Given the description of an element on the screen output the (x, y) to click on. 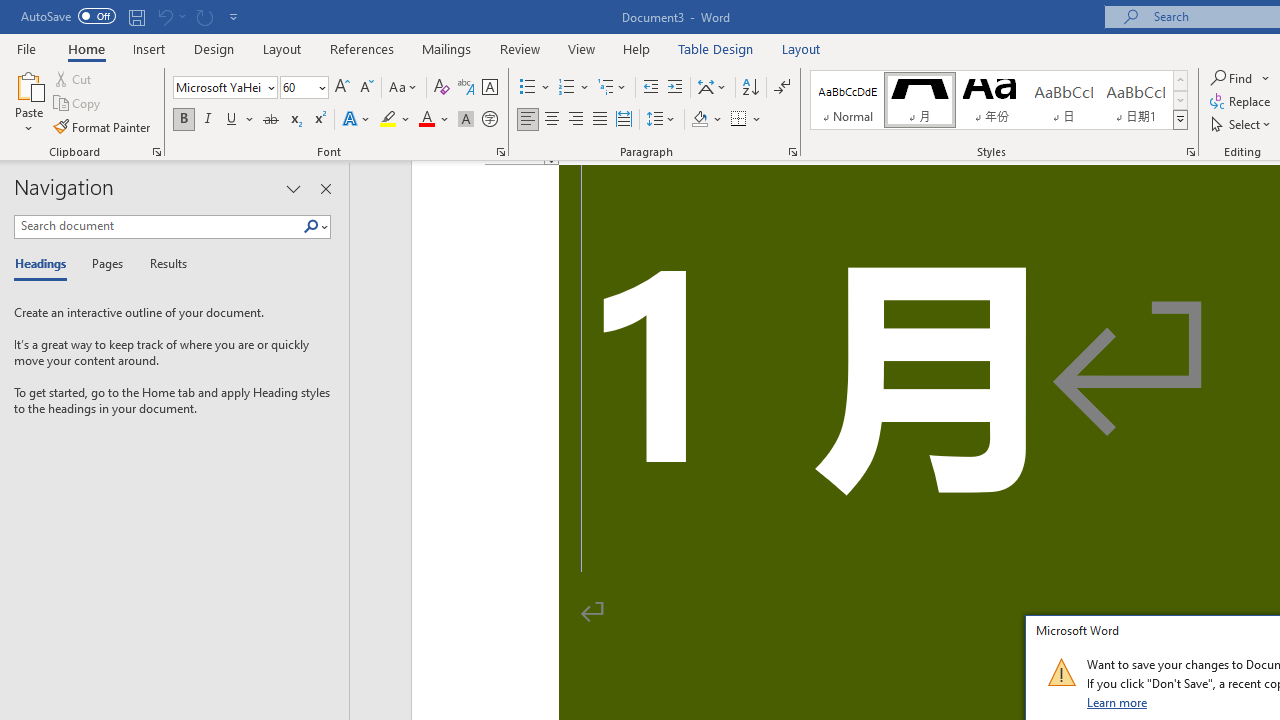
Cut (73, 78)
Underline (232, 119)
Styles (1179, 120)
Character Shading (465, 119)
Distributed (623, 119)
Multilevel List (613, 87)
Results (161, 264)
Class: NetUIImage (1061, 671)
Layout (801, 48)
More Options (1266, 78)
Close pane (325, 188)
Font Color (434, 119)
Mailings (447, 48)
Shrink Font (365, 87)
Align Left (527, 119)
